Given the description of an element on the screen output the (x, y) to click on. 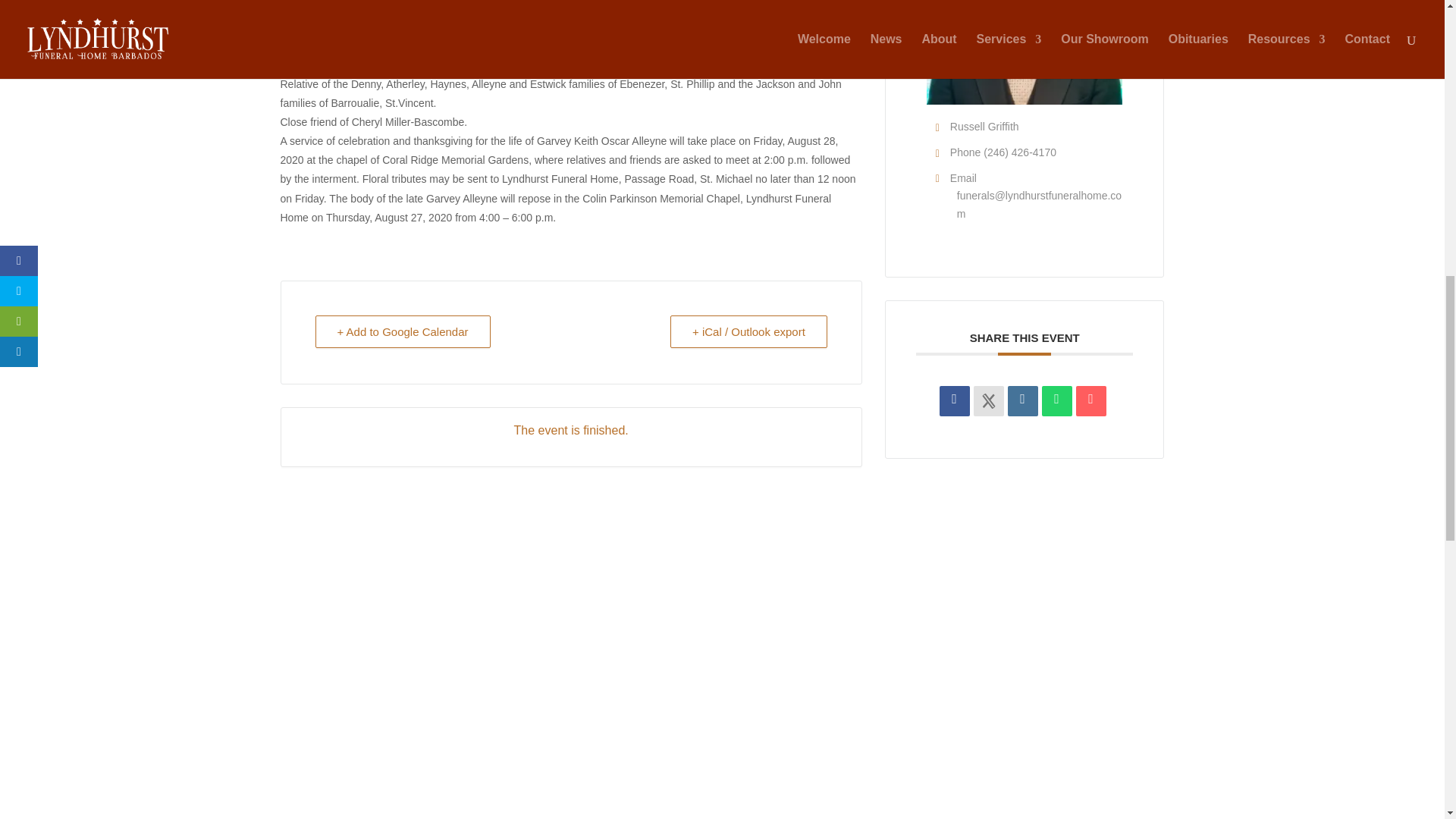
Share on Facebook (954, 400)
Email (1090, 400)
Linkedin (1022, 400)
Share on WhatsApp (1056, 400)
X Social Network (989, 400)
